Given the description of an element on the screen output the (x, y) to click on. 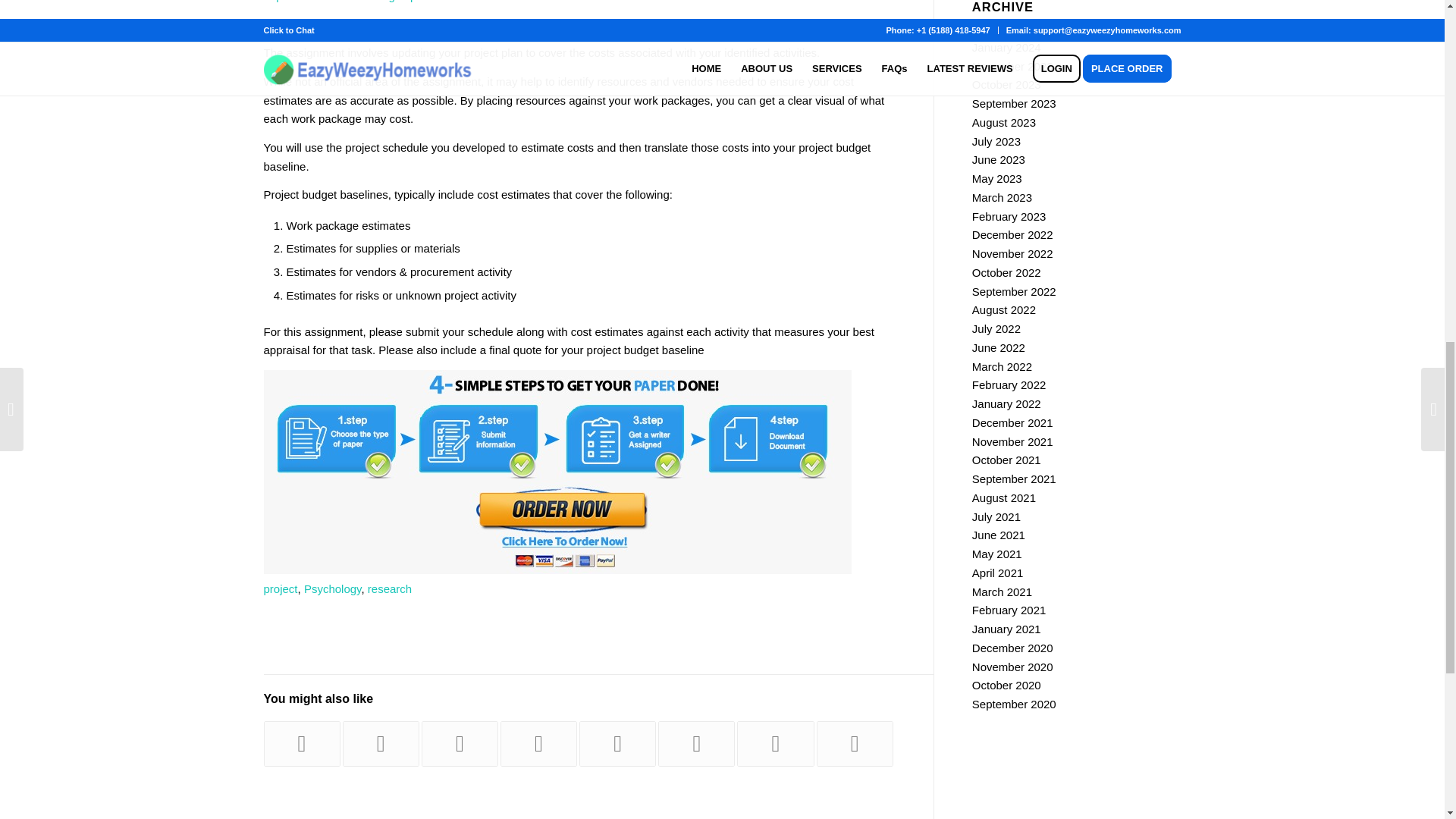
Unfair employee discharge homework (380, 743)
An outline on Je Suis Charlie (459, 743)
Psychology discussion and replies (538, 743)
Intelligence tests and cultural bias discussion board (854, 743)
project (280, 588)
Sociology homework help (301, 743)
research (390, 588)
Quantitative Research Design (696, 743)
Psychology (332, 588)
Aristotles Concept of Virtue (774, 743)
Strengths and Weaknesses of Research Methods (617, 743)
